Given the description of an element on the screen output the (x, y) to click on. 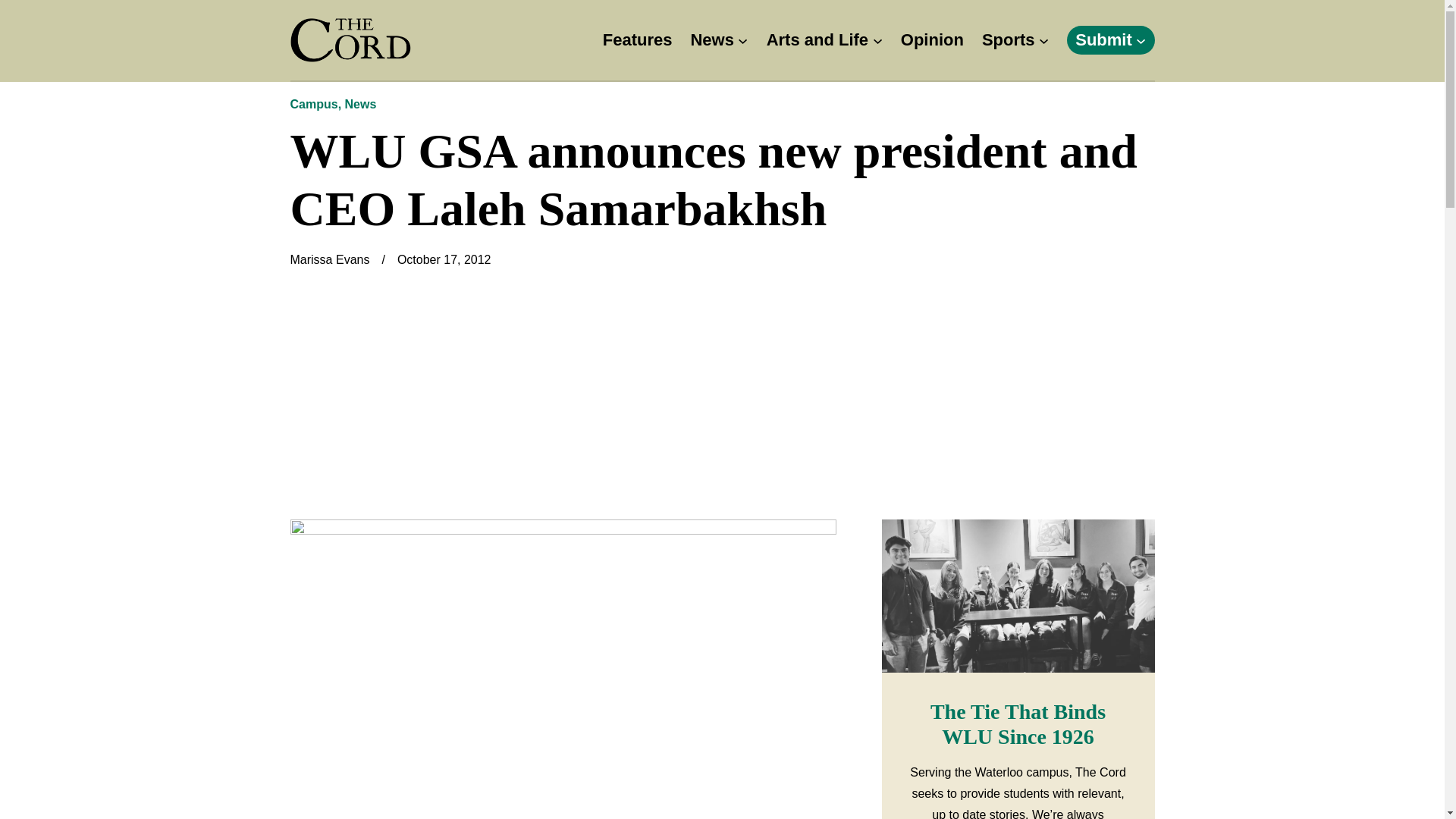
Opinion (932, 40)
News (361, 103)
News (711, 40)
Features (637, 40)
Sports (1008, 40)
Arts and Life (817, 40)
Campus (313, 103)
Submit (1103, 40)
